Given the description of an element on the screen output the (x, y) to click on. 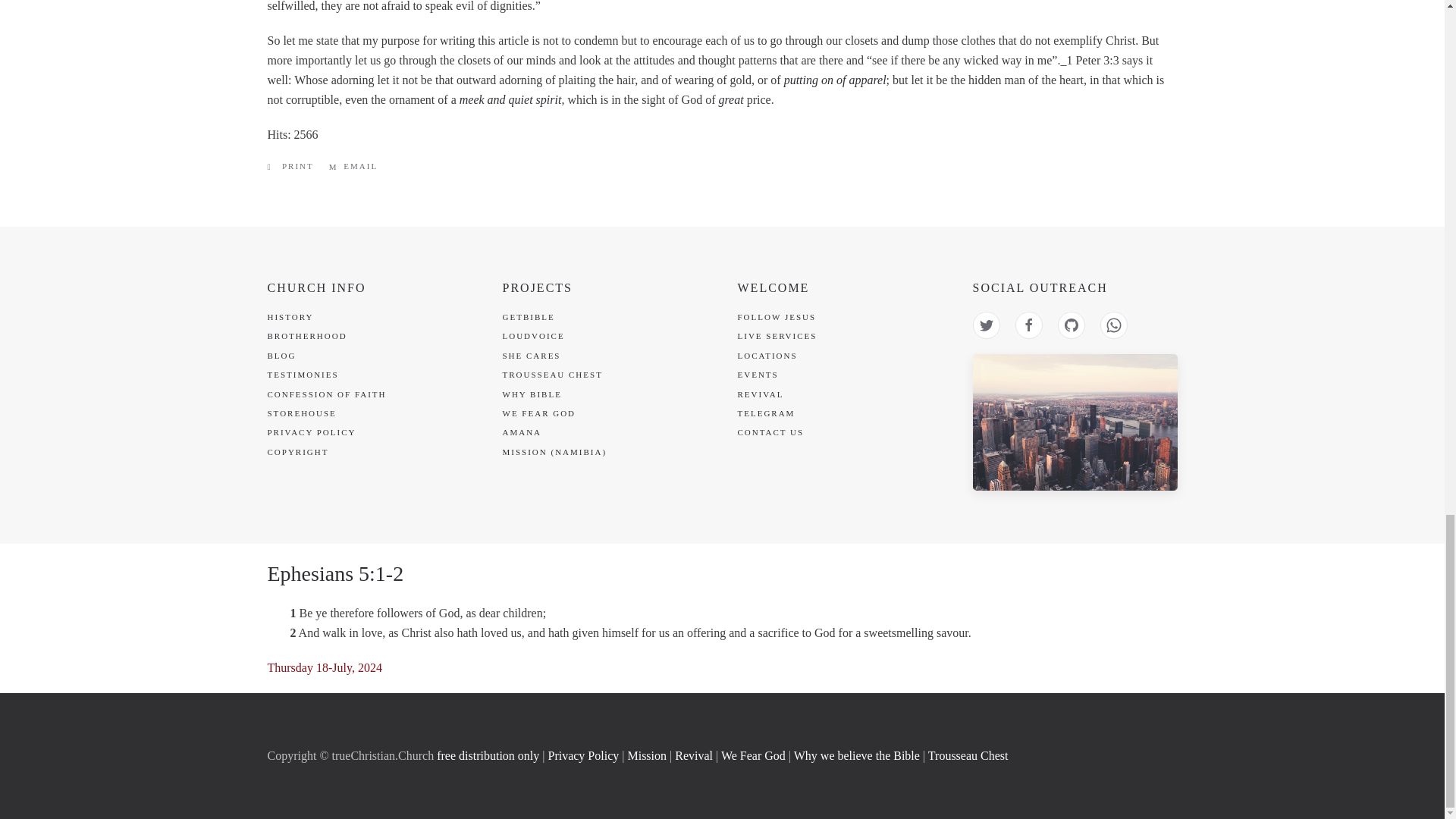
Email this link to a friend (353, 166)
